Given the description of an element on the screen output the (x, y) to click on. 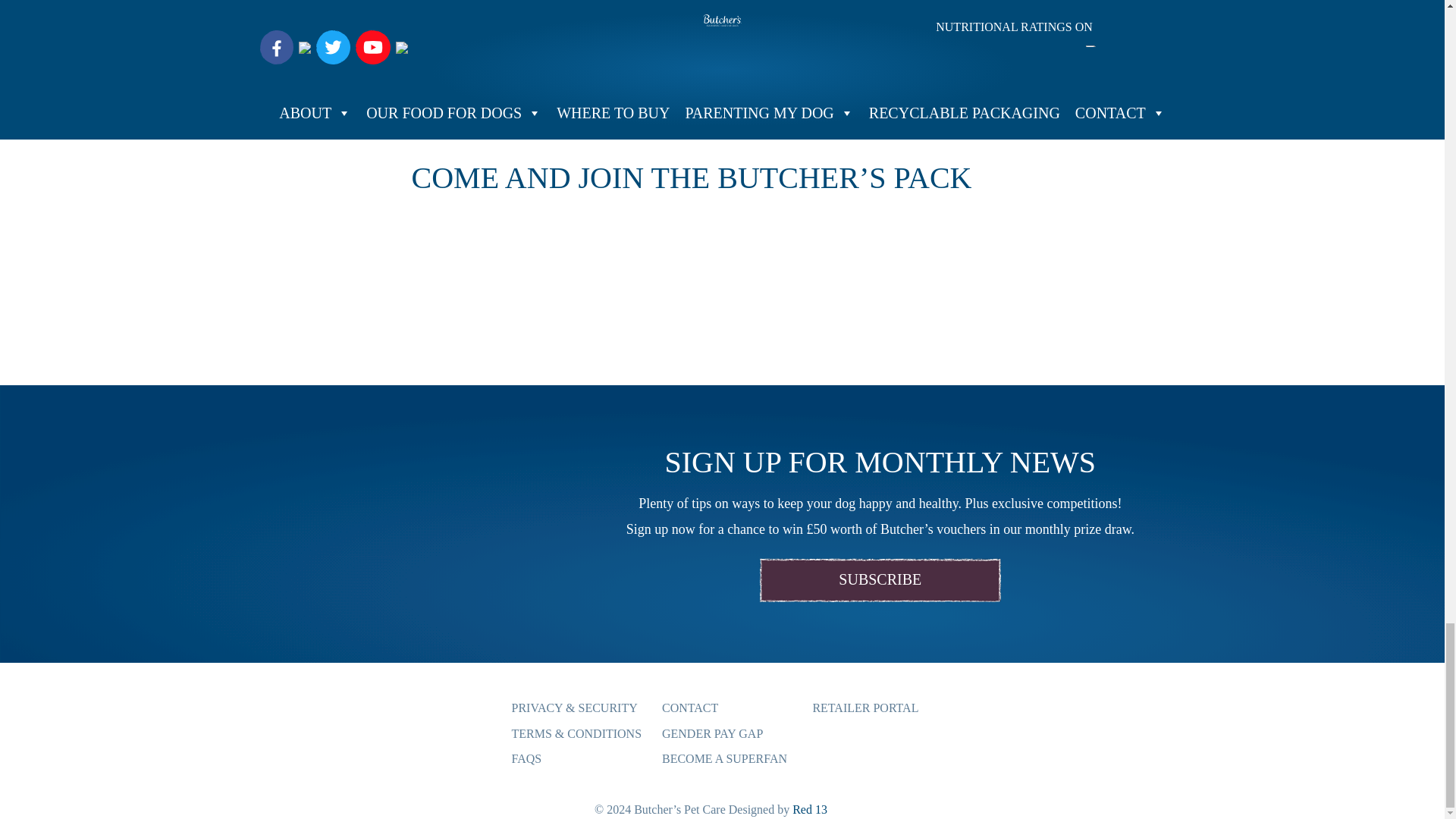
Twitter (405, 20)
Facebook (372, 20)
Email (438, 20)
Pinterest (470, 20)
